Given the description of an element on the screen output the (x, y) to click on. 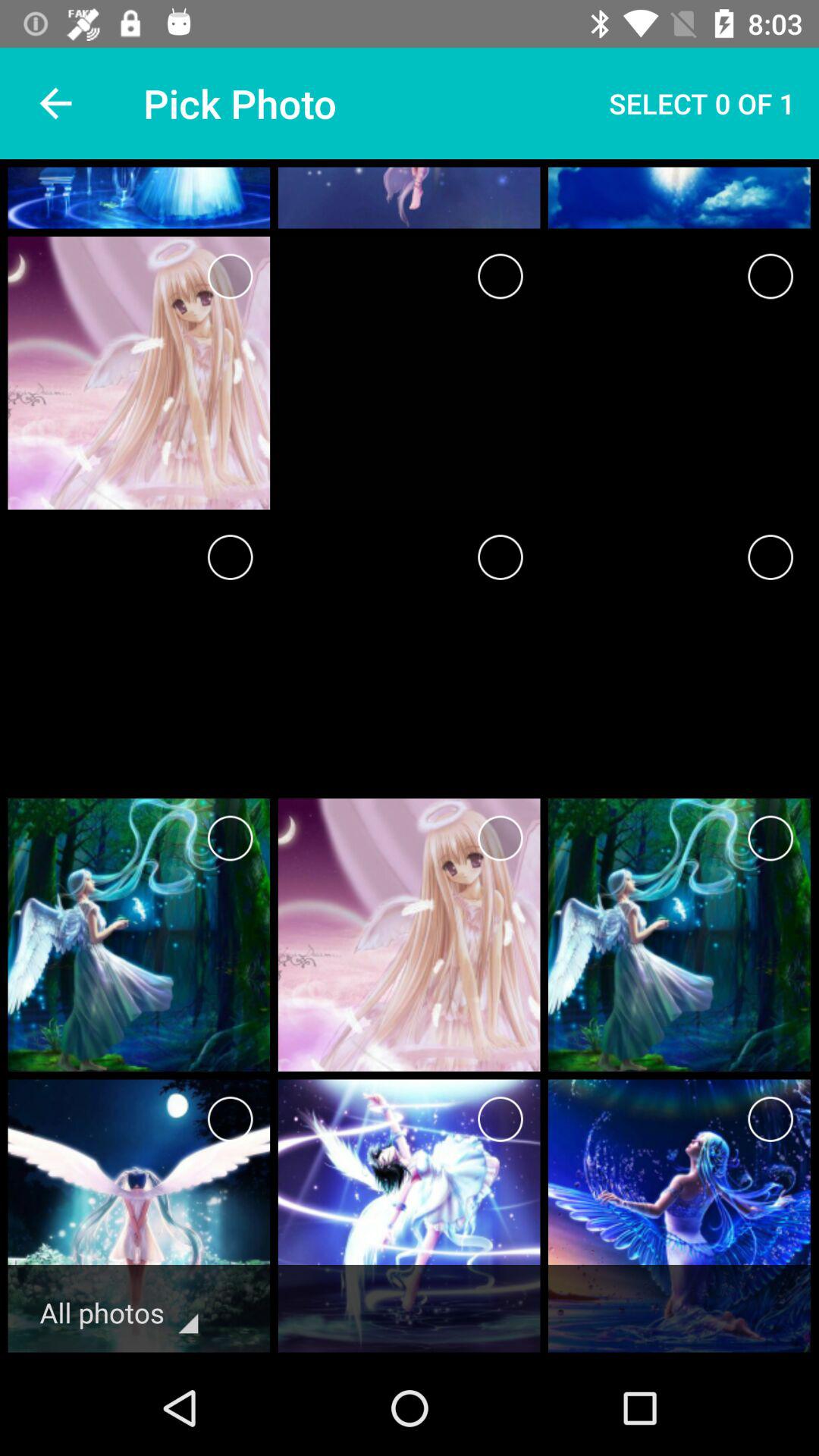
select option (230, 838)
